Given the description of an element on the screen output the (x, y) to click on. 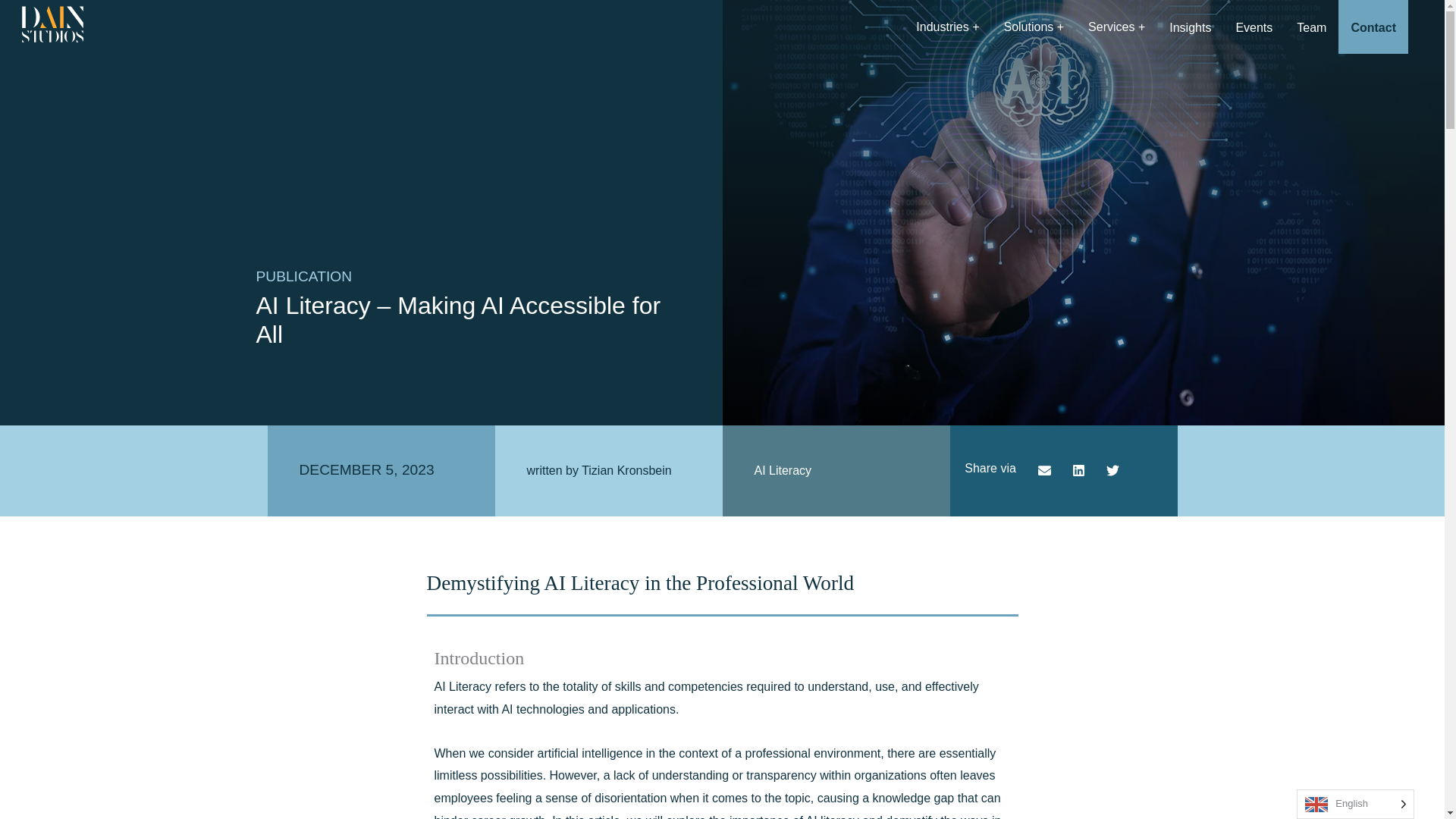
Contact (1373, 27)
Events (1253, 27)
Team (1311, 27)
Insights (1190, 27)
